Given the description of an element on the screen output the (x, y) to click on. 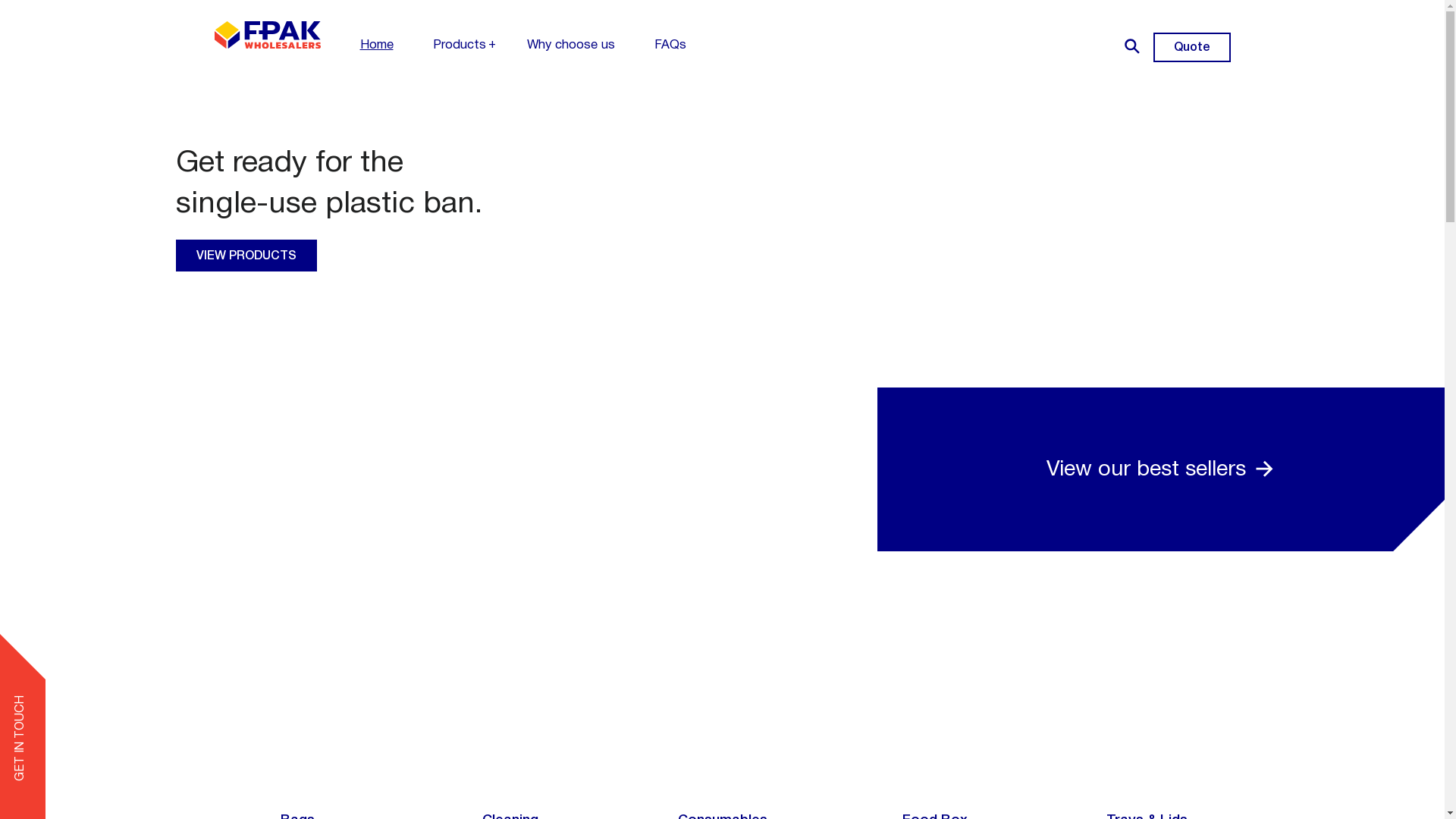
View our best sellers Element type: text (1160, 469)
Why choose us Element type: text (570, 44)
FAQs Element type: text (669, 44)
Products Element type: text (458, 44)
Quote Element type: text (1191, 47)
Home Element type: text (375, 44)
VIEW PRODUCTS Element type: text (245, 255)
